Given the description of an element on the screen output the (x, y) to click on. 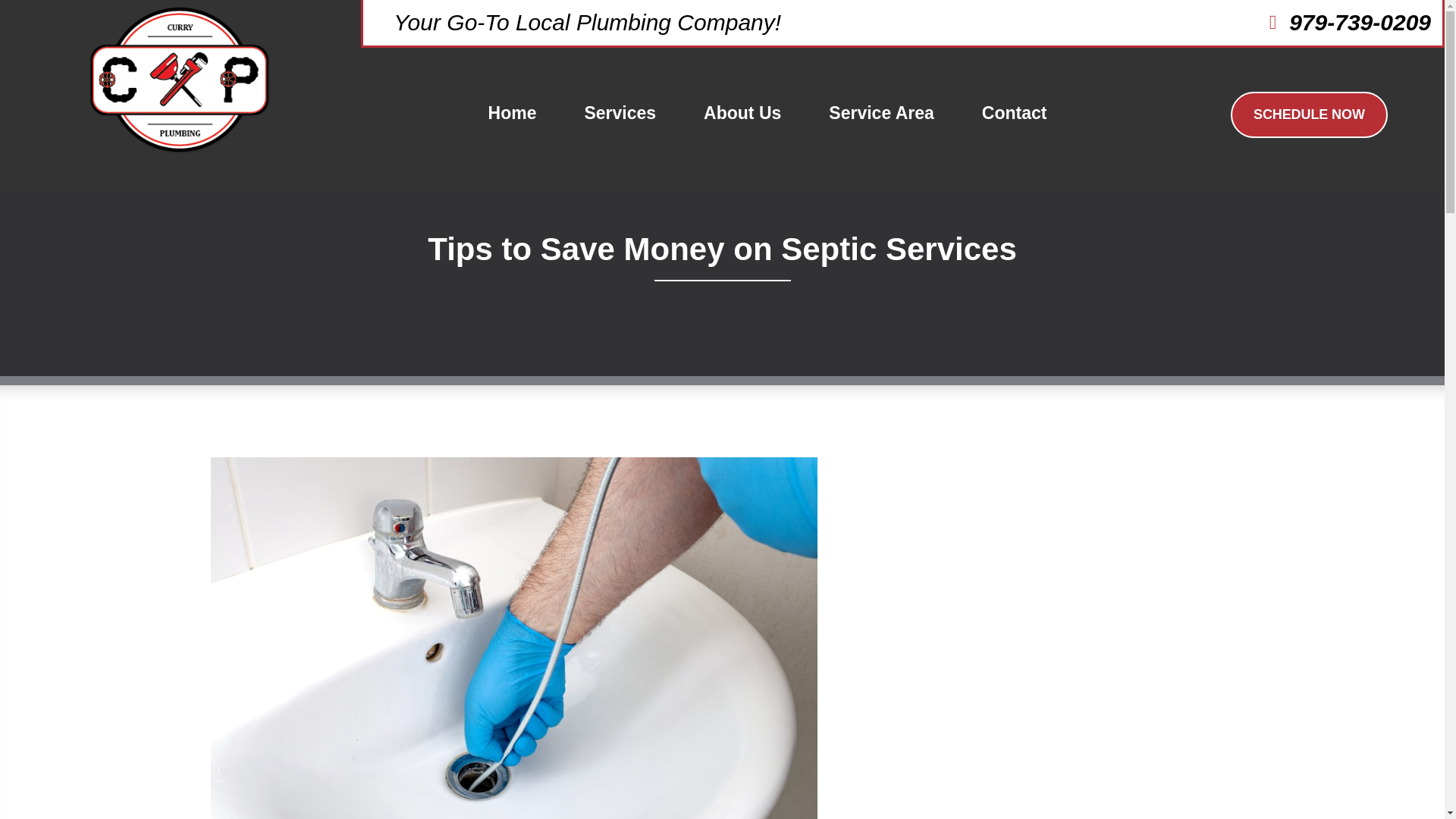
979-739-0209 (1341, 22)
Services (620, 113)
SCHEDULE NOW (1308, 114)
Contact (1014, 113)
Service Area (881, 113)
About Us (742, 113)
Home (512, 113)
